Given the description of an element on the screen output the (x, y) to click on. 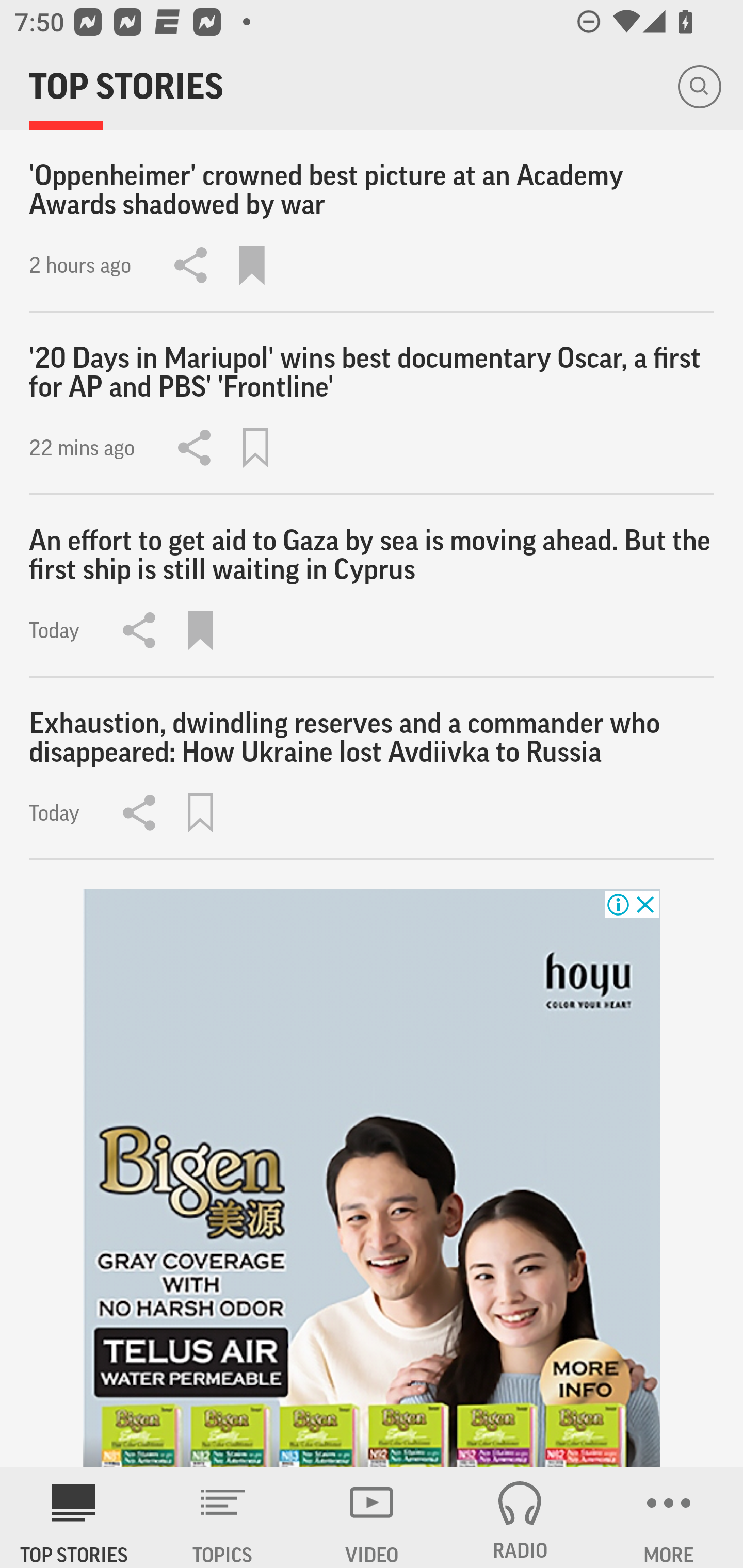
8 (371, 1178)
AP News TOP STORIES (74, 1517)
TOPICS (222, 1517)
VIDEO (371, 1517)
RADIO (519, 1517)
MORE (668, 1517)
